Given the description of an element on the screen output the (x, y) to click on. 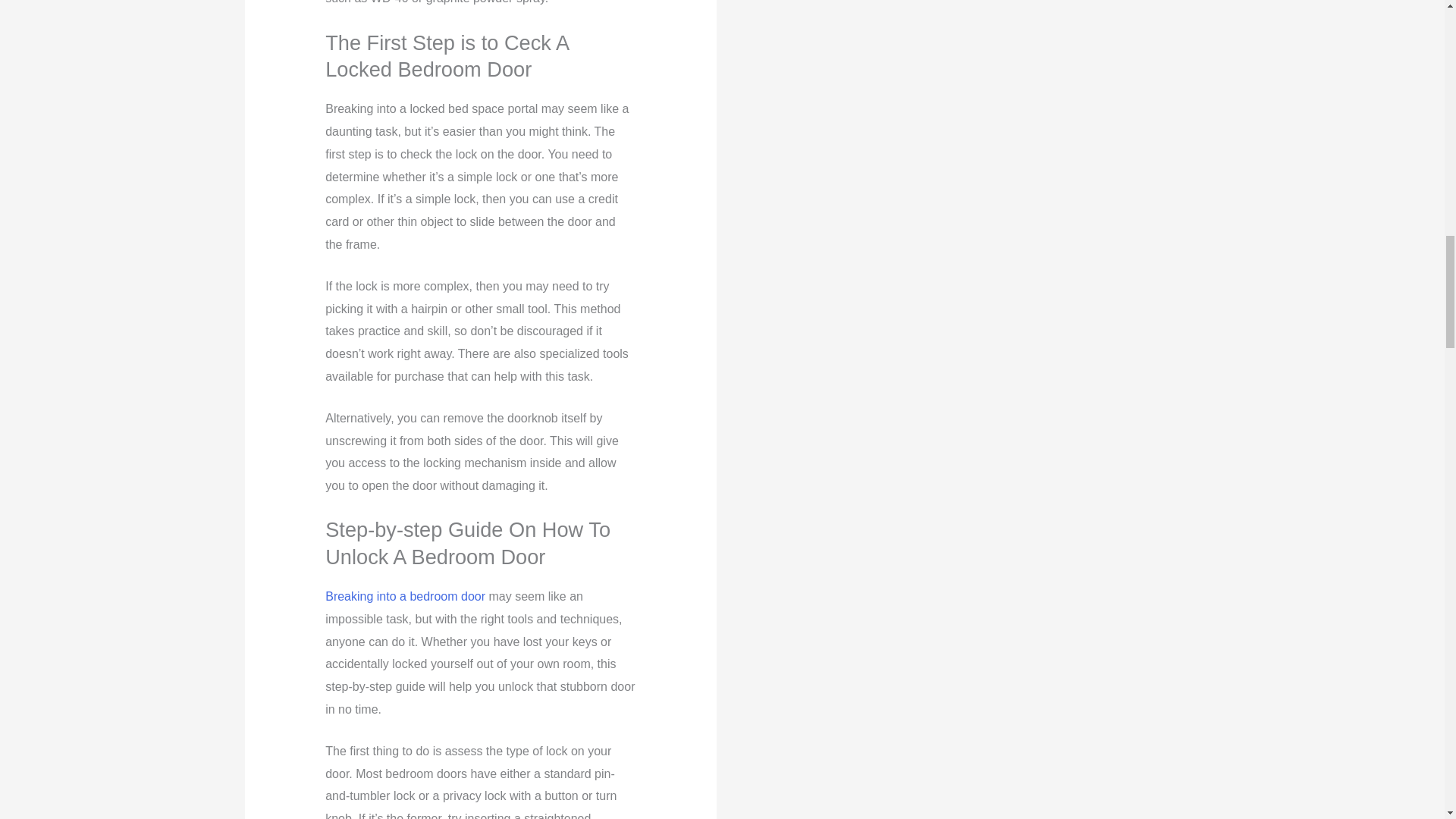
Breaking into a bedroom door (404, 595)
